Given the description of an element on the screen output the (x, y) to click on. 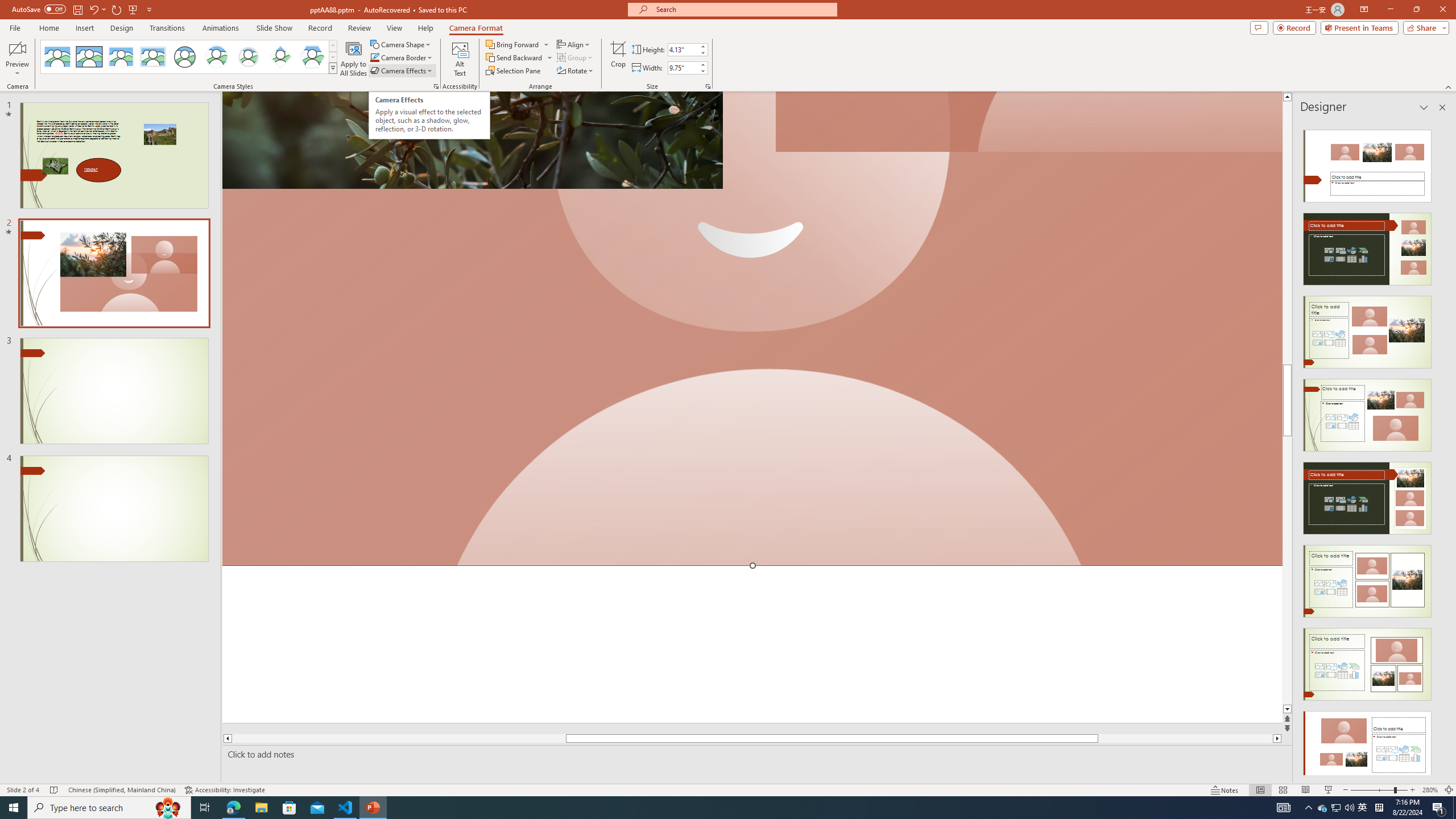
Cameo Width (682, 67)
Preview (17, 58)
Simple Frame Rectangle (88, 56)
Cameo Height (682, 49)
Alt Text (459, 58)
